Given the description of an element on the screen output the (x, y) to click on. 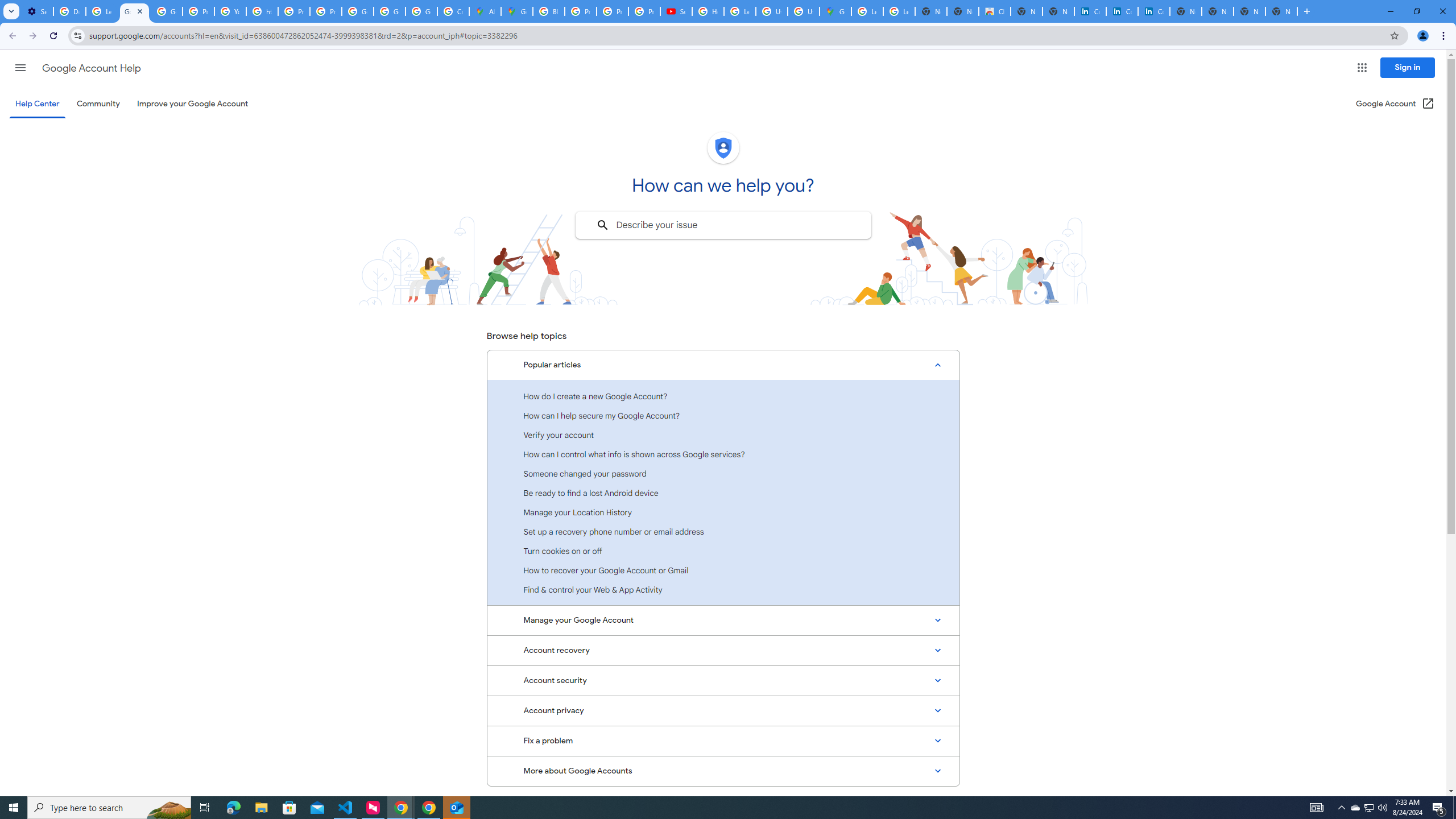
Learn how to find your photos - Google Photos Help (101, 11)
Privacy Help Center - Policies Help (580, 11)
Create your Google Account (453, 11)
Someone changed your password (722, 473)
Fix a problem (722, 740)
Privacy Help Center - Policies Help (293, 11)
Delete photos & videos - Computer - Google Photos Help (69, 11)
